Given the description of an element on the screen output the (x, y) to click on. 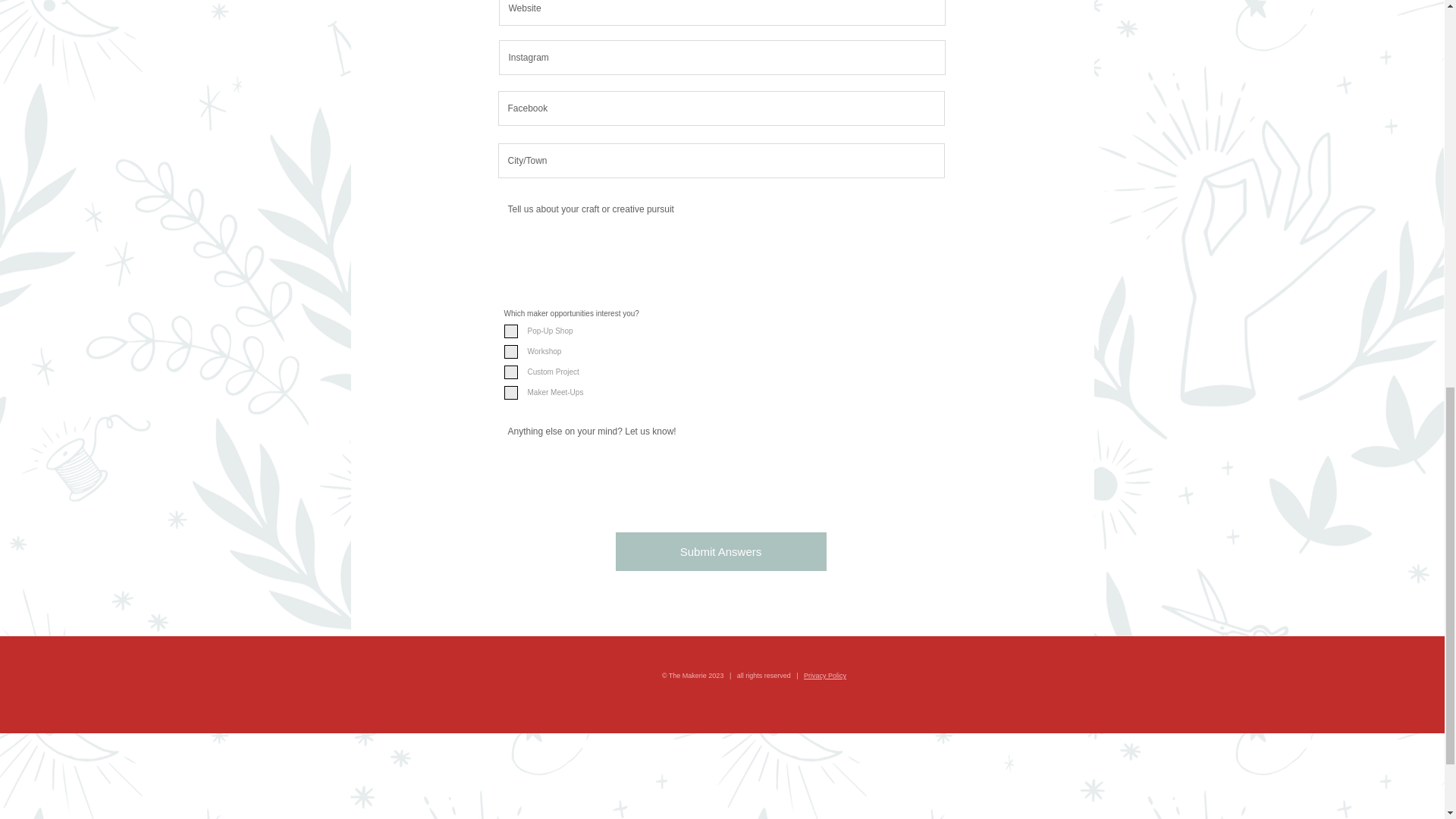
Submit Answers (721, 551)
Privacy Policy (824, 675)
